Given the description of an element on the screen output the (x, y) to click on. 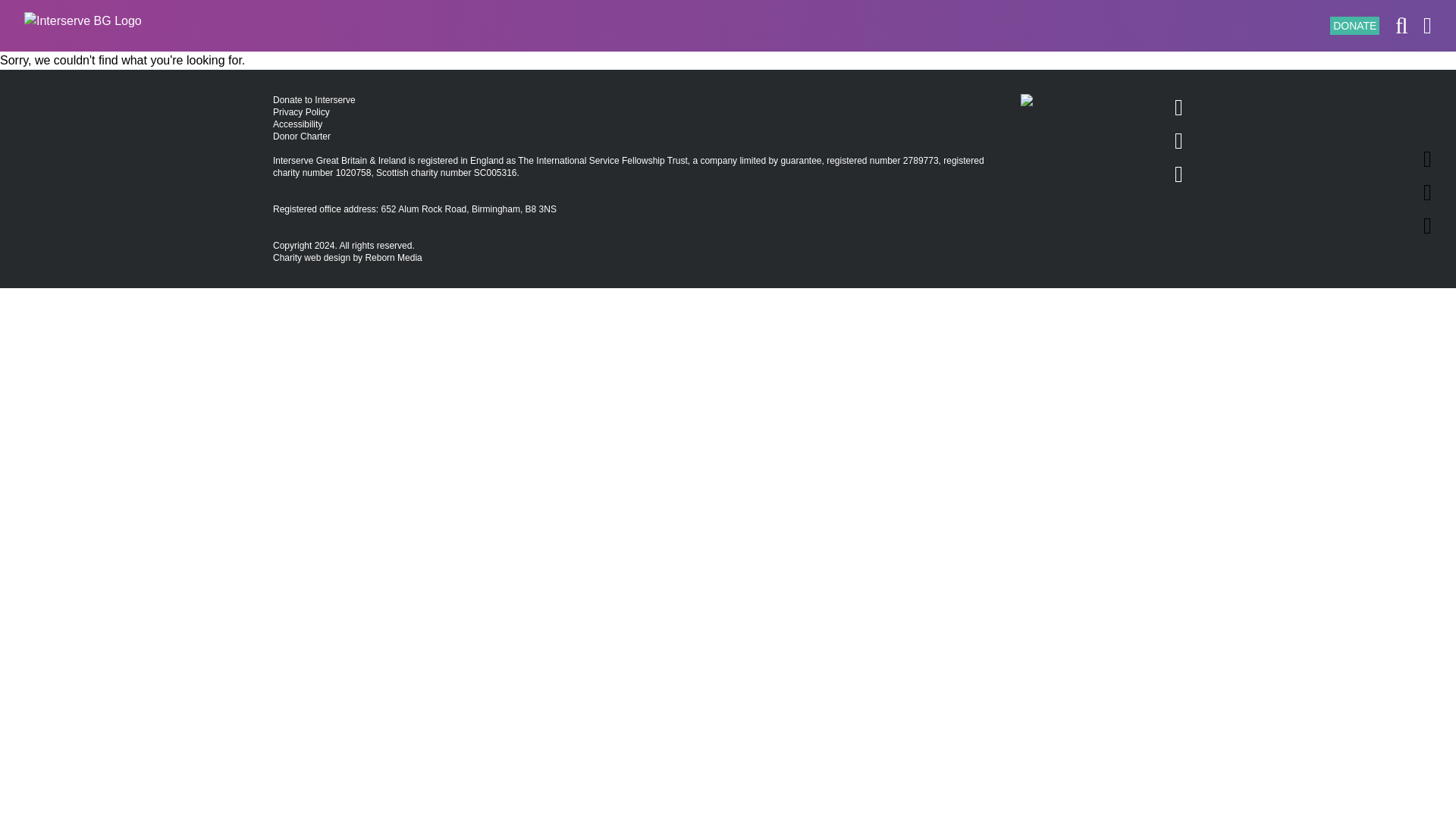
DONATE (1354, 25)
Donate to Interserve (314, 100)
Privacy Policy (301, 112)
Charity web design (311, 257)
Accessibility (297, 123)
Donor Charter (301, 136)
